Given the description of an element on the screen output the (x, y) to click on. 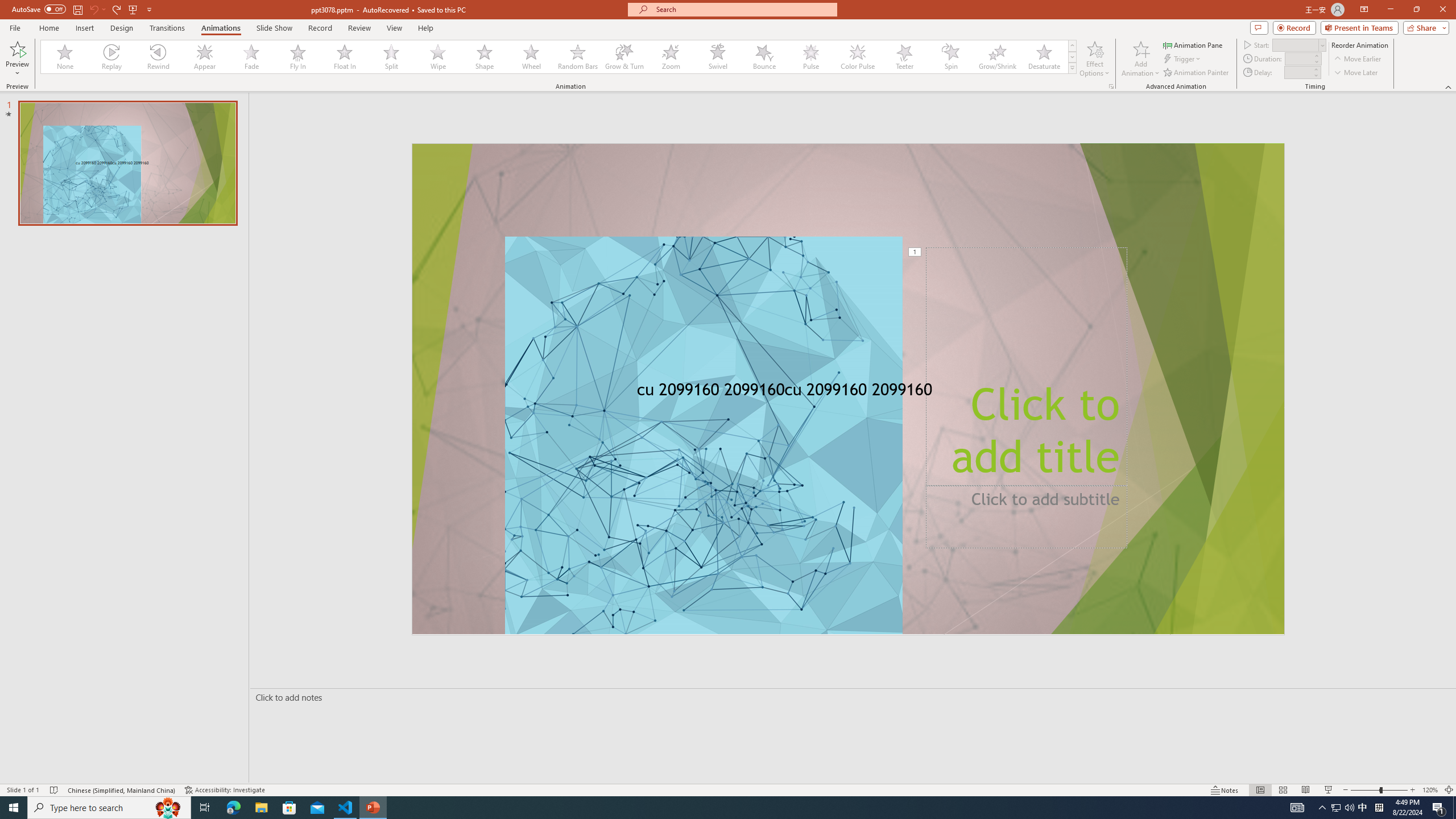
Wheel (531, 56)
More Options... (1110, 85)
Animation Delay (1297, 72)
Teeter (903, 56)
Accessibility Checker Accessibility: Investigate (226, 790)
Preview (17, 48)
Pulse (810, 56)
Animation Duration (1298, 58)
Float In (344, 56)
Preview (17, 58)
